Given the description of an element on the screen output the (x, y) to click on. 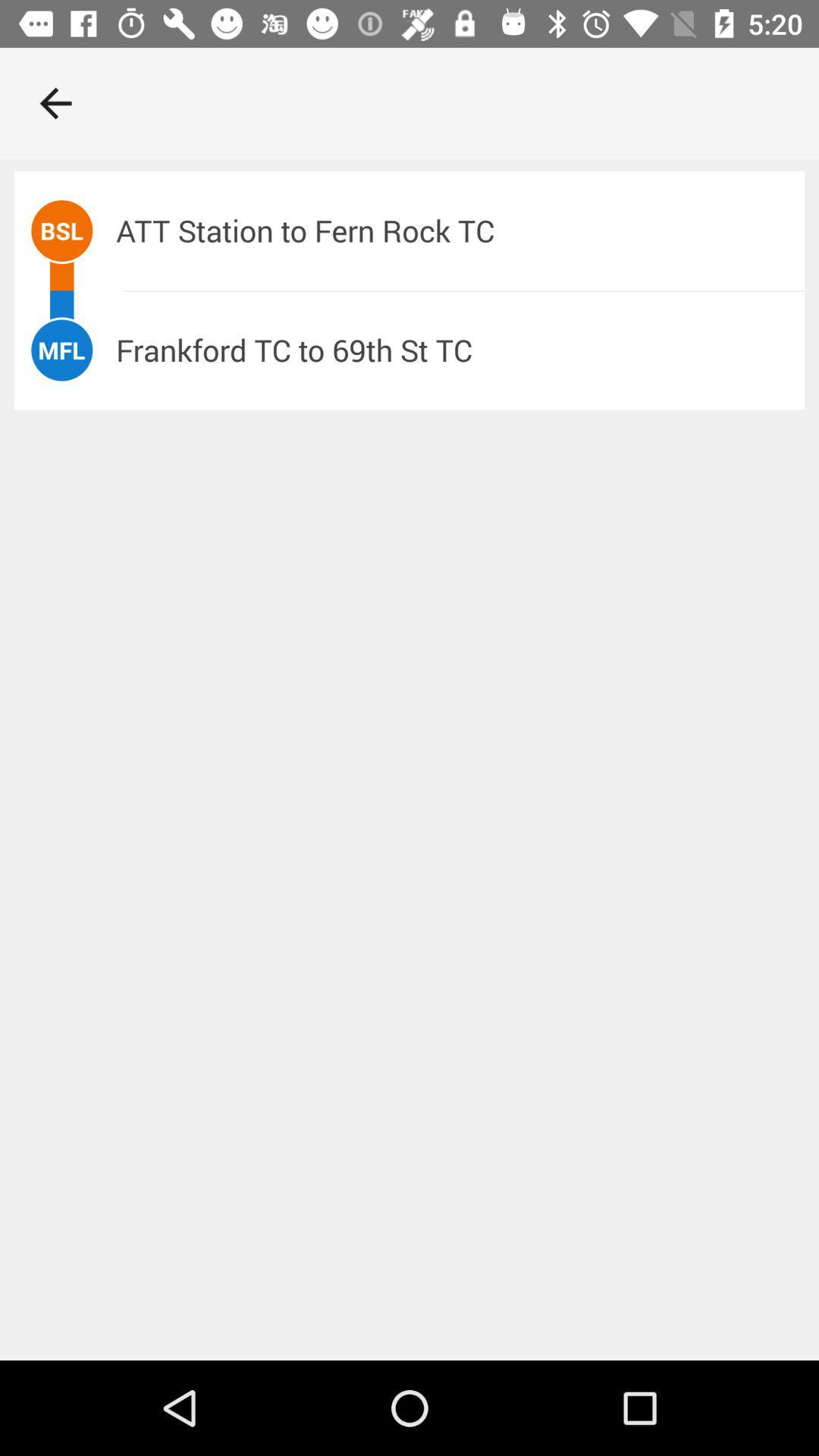
select item next to frankford tc to item (61, 349)
